Given the description of an element on the screen output the (x, y) to click on. 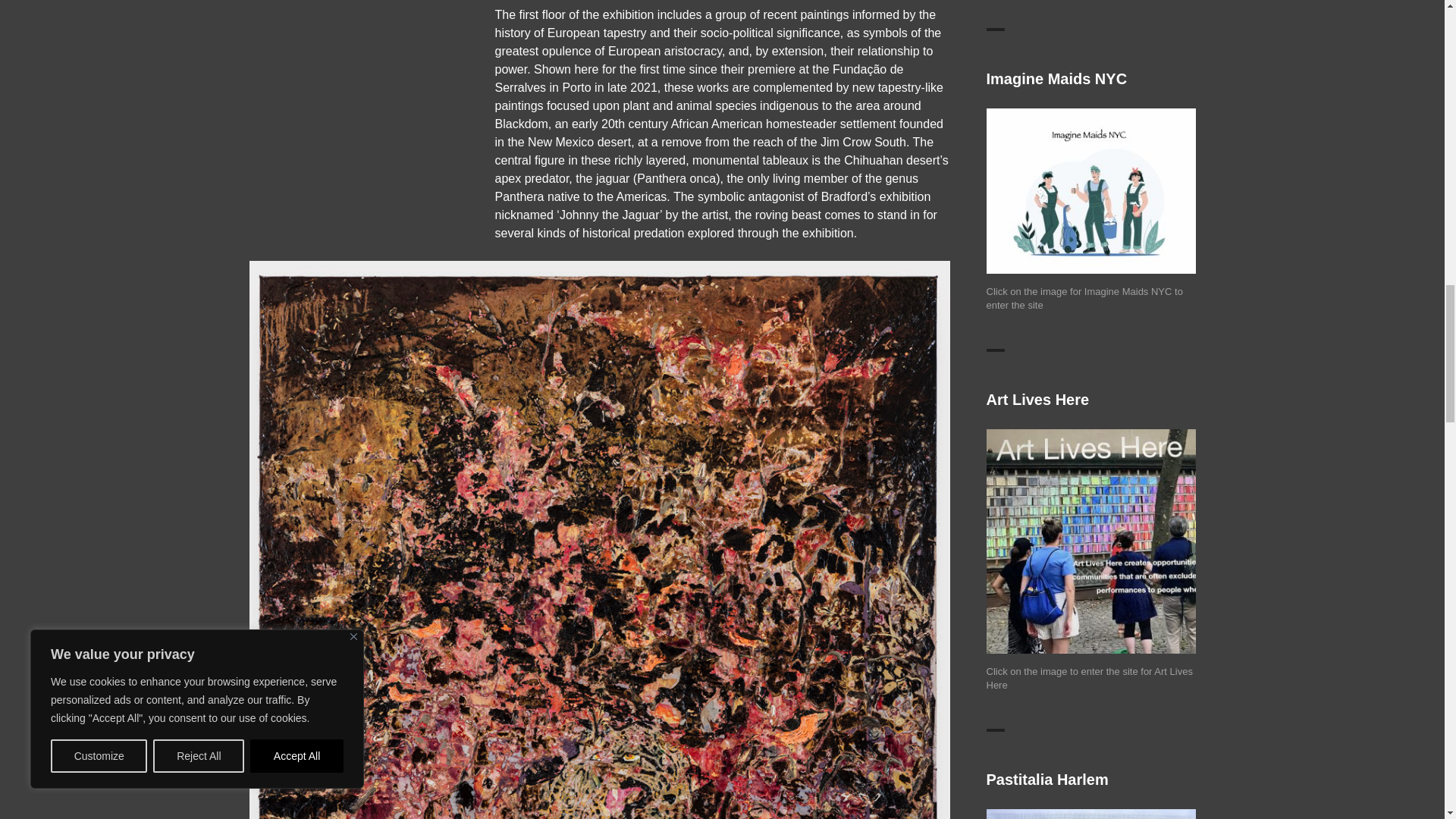
Pastitalia Harlem (1090, 814)
